Given the description of an element on the screen output the (x, y) to click on. 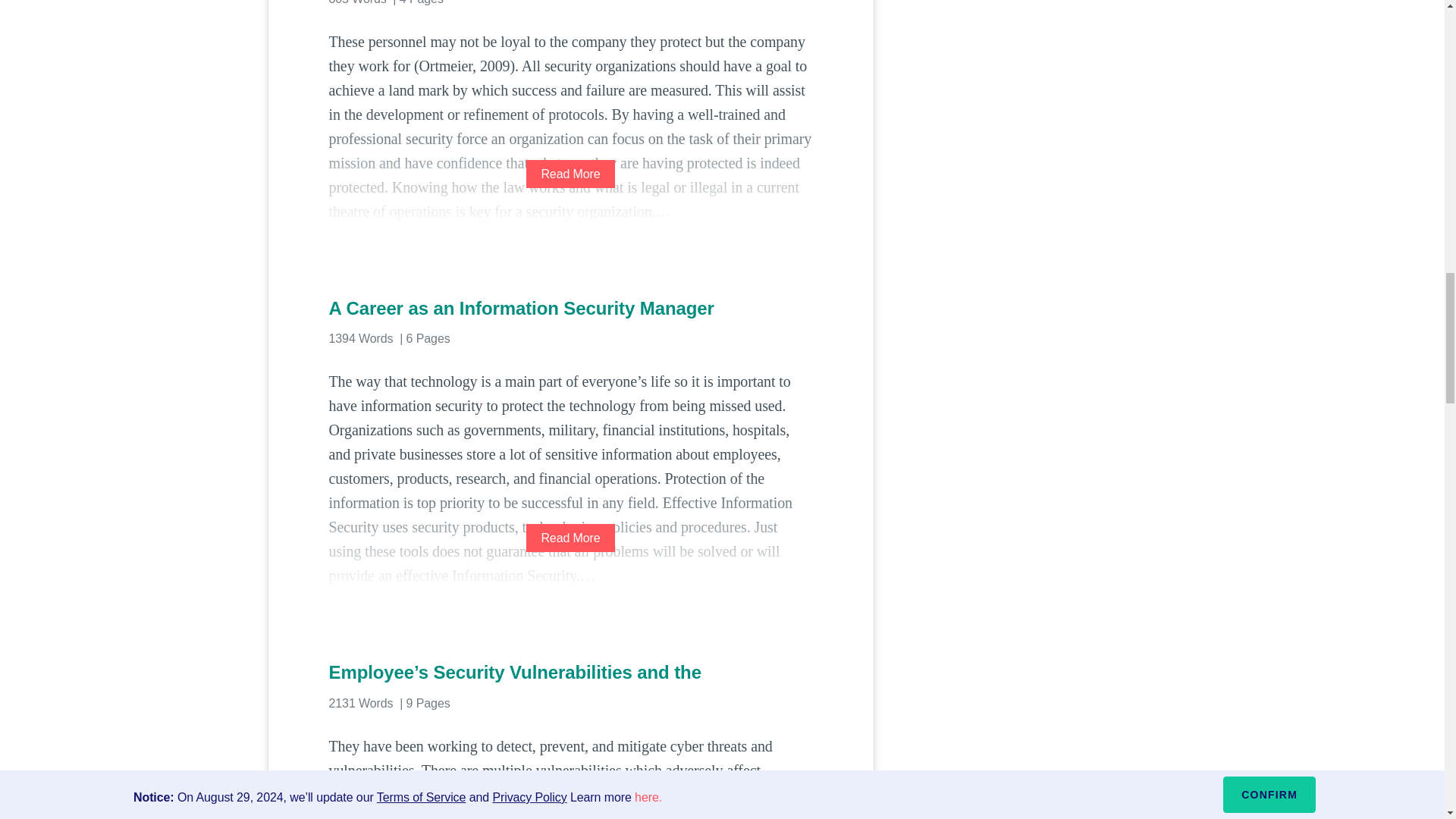
A Career as an Information Security Manager (570, 308)
Read More (569, 538)
Read More (569, 173)
